Given the description of an element on the screen output the (x, y) to click on. 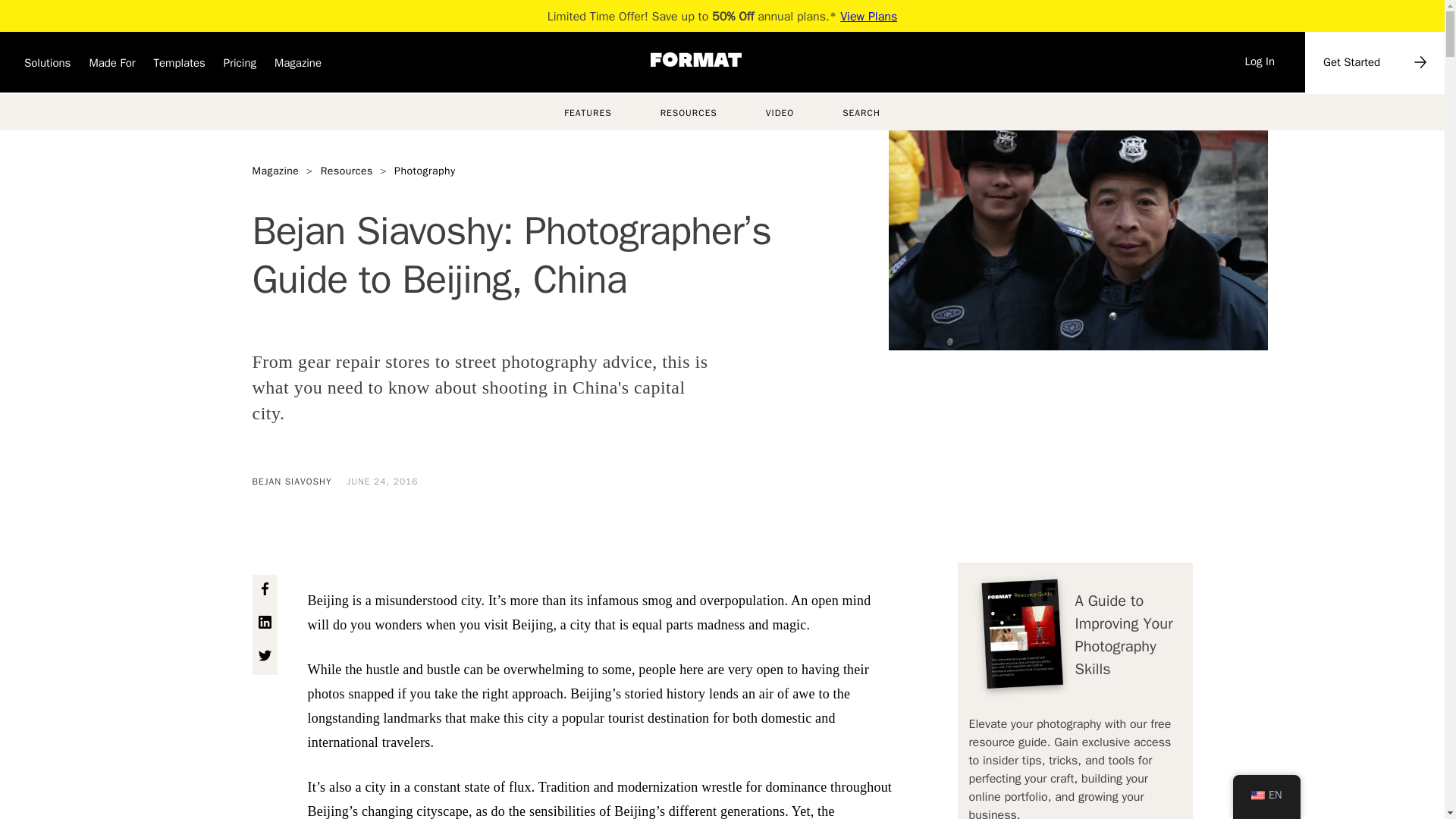
View Plans (868, 16)
Pricing (240, 66)
English (1257, 795)
Templates (179, 66)
Magazine (298, 66)
